Given the description of an element on the screen output the (x, y) to click on. 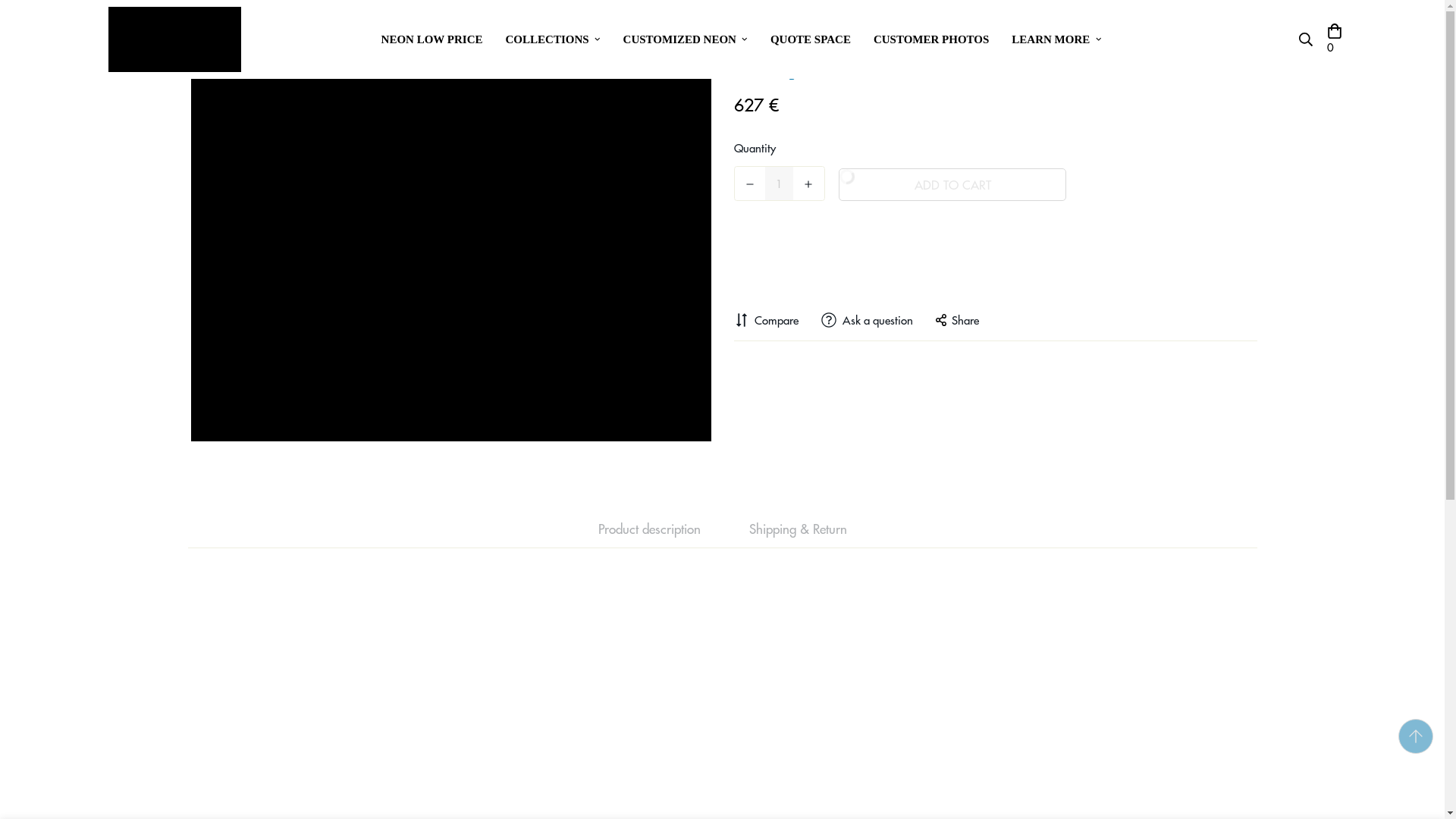
Neontopia (173, 39)
0 (1334, 39)
Back to the home page (629, 19)
NEON LOW PRICE (432, 39)
1 (779, 183)
LEARN MORE (1056, 39)
CUSTOMIZED NEON (684, 39)
CUSTOMER PHOTOS (930, 39)
QUOTE SPACE (809, 39)
COLLECTIONS (553, 39)
